Given the description of an element on the screen output the (x, y) to click on. 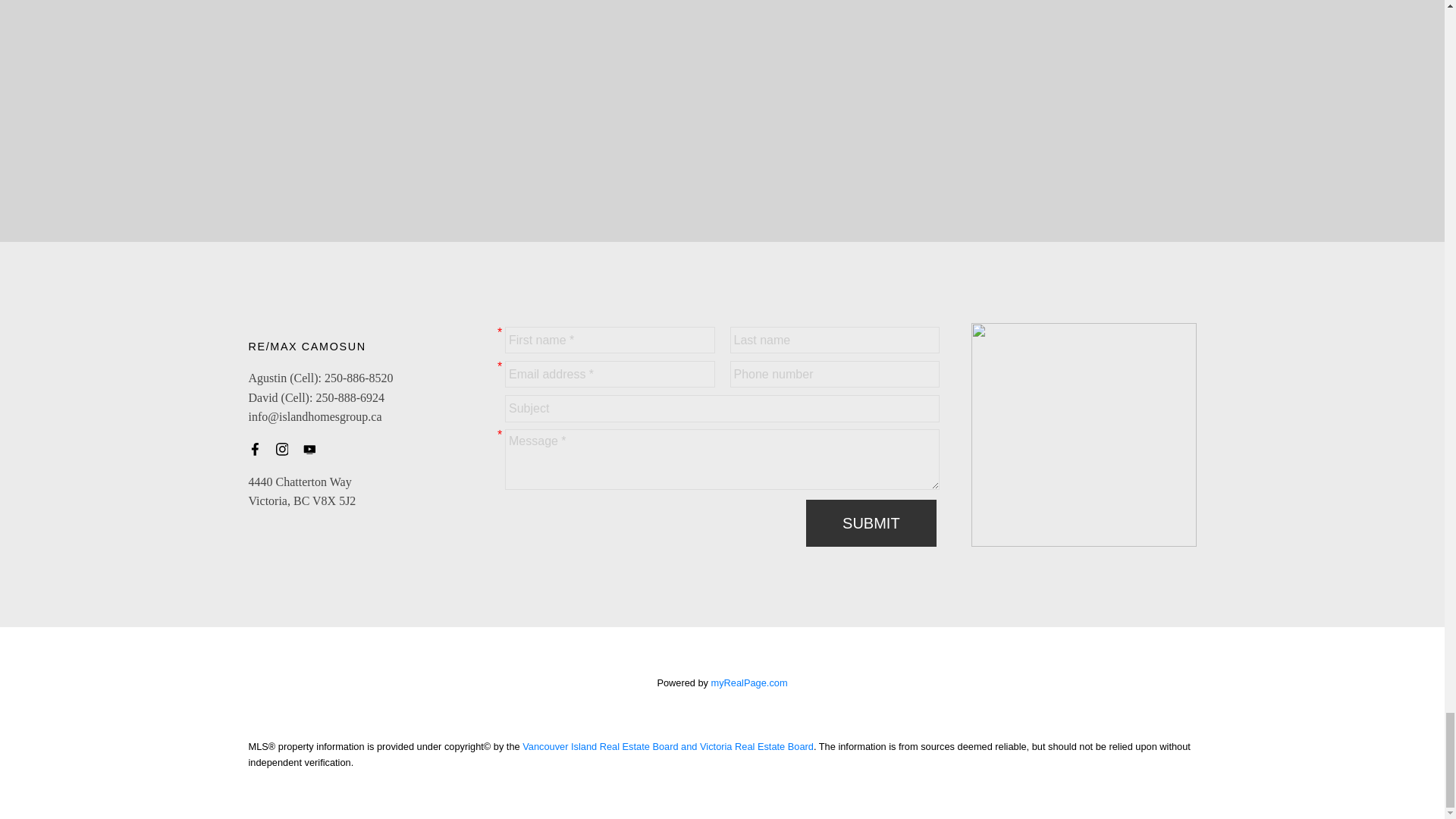
Facebook (258, 449)
Youtube (313, 449)
instagram (286, 449)
